Given the description of an element on the screen output the (x, y) to click on. 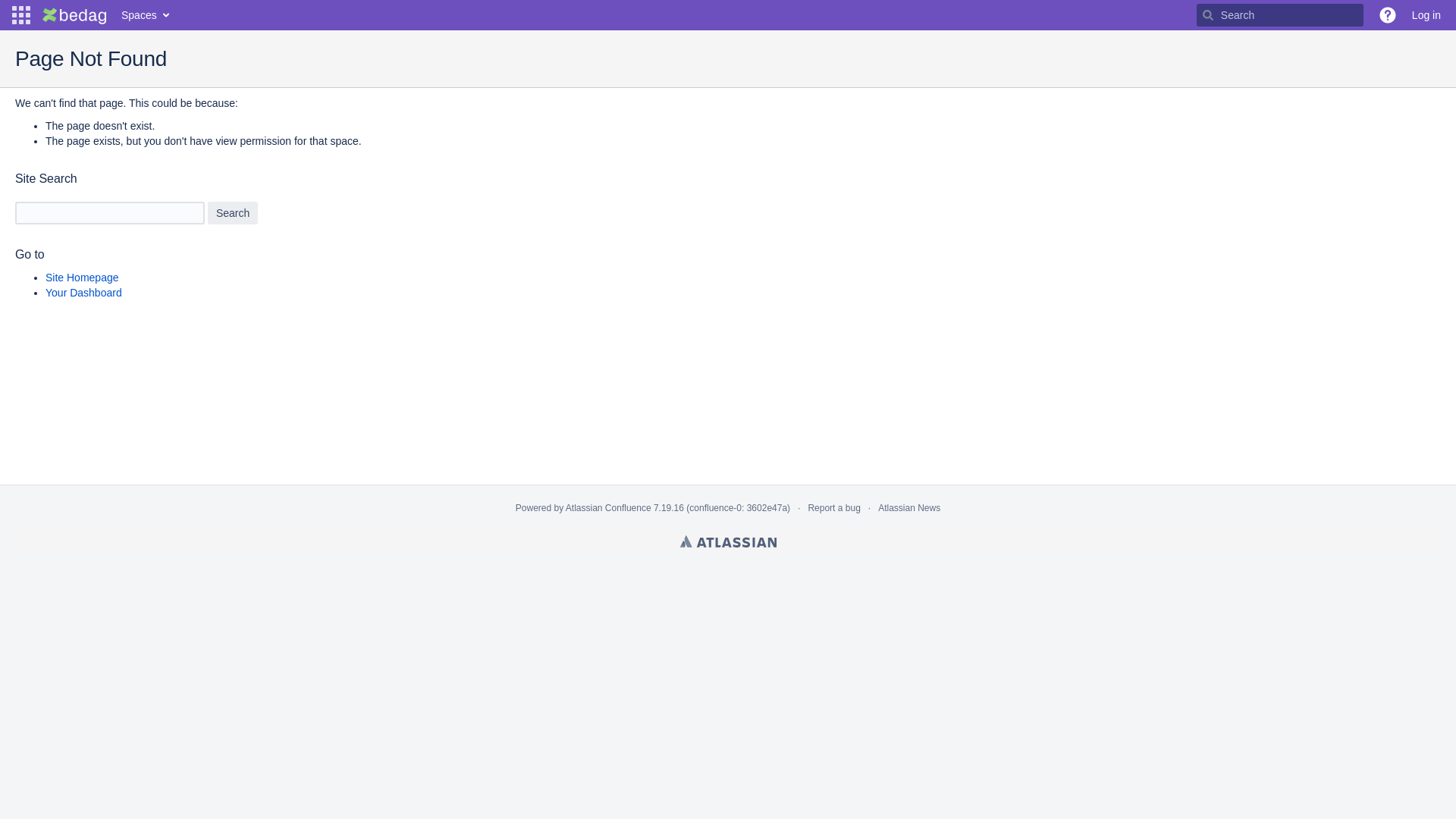
Linked Applications Element type: text (20, 15)
Log in Element type: text (1426, 15)
 (Type 'g' then 'g'OR '/') Element type: hover (1279, 14)
Report a bug Element type: text (833, 507)
Search Element type: text (232, 212)
Help Element type: text (1387, 15)
Atlassian News Element type: text (909, 507)
Atlassian Confluence Element type: text (608, 507)
Your Dashboard Element type: text (83, 292)
Site Homepage Element type: text (82, 277)
Atlassian Element type: text (727, 541)
Spaces Element type: text (144, 15)
